Given the description of an element on the screen output the (x, y) to click on. 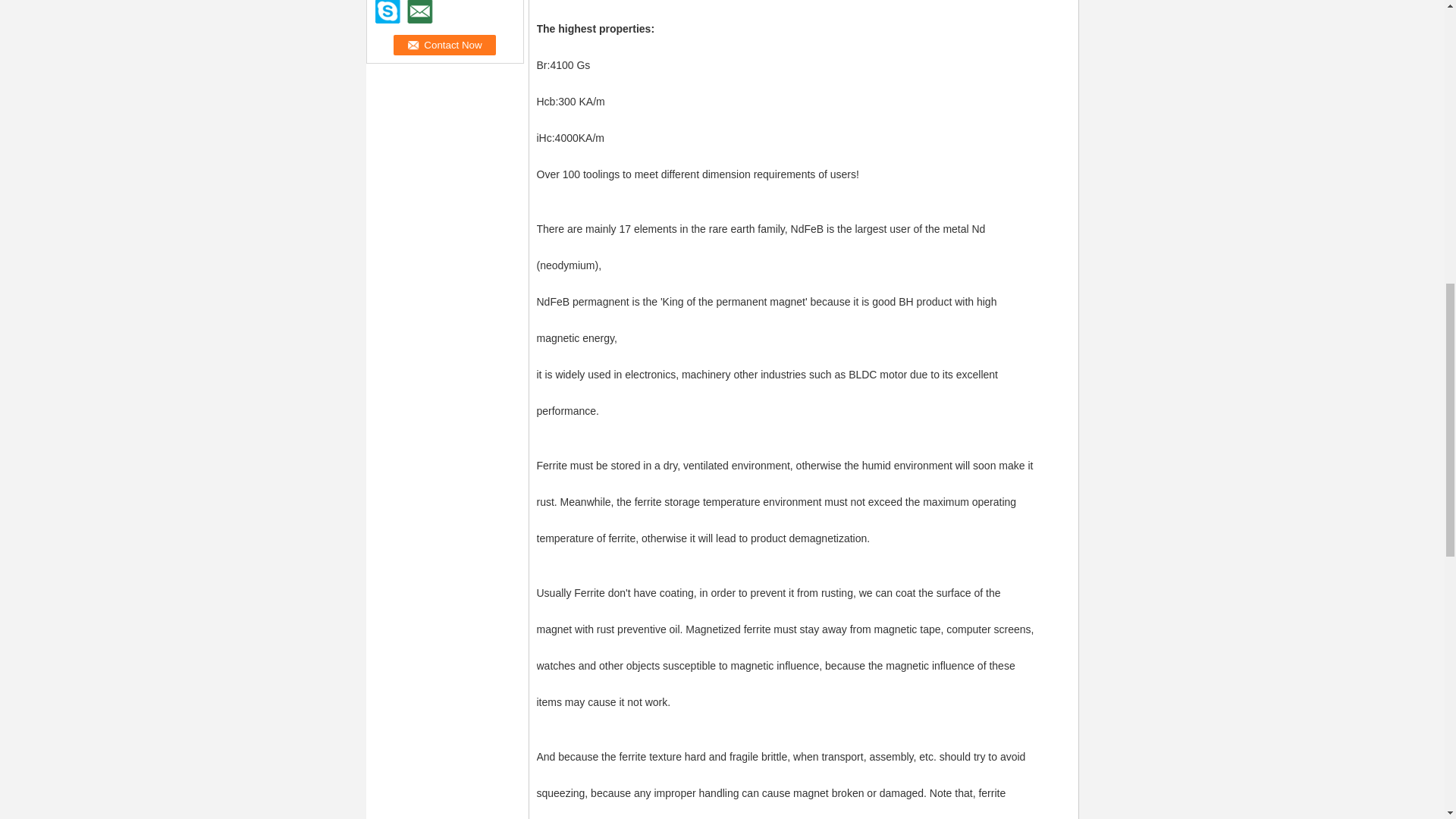
Contact Now (444, 45)
